Given the description of an element on the screen output the (x, y) to click on. 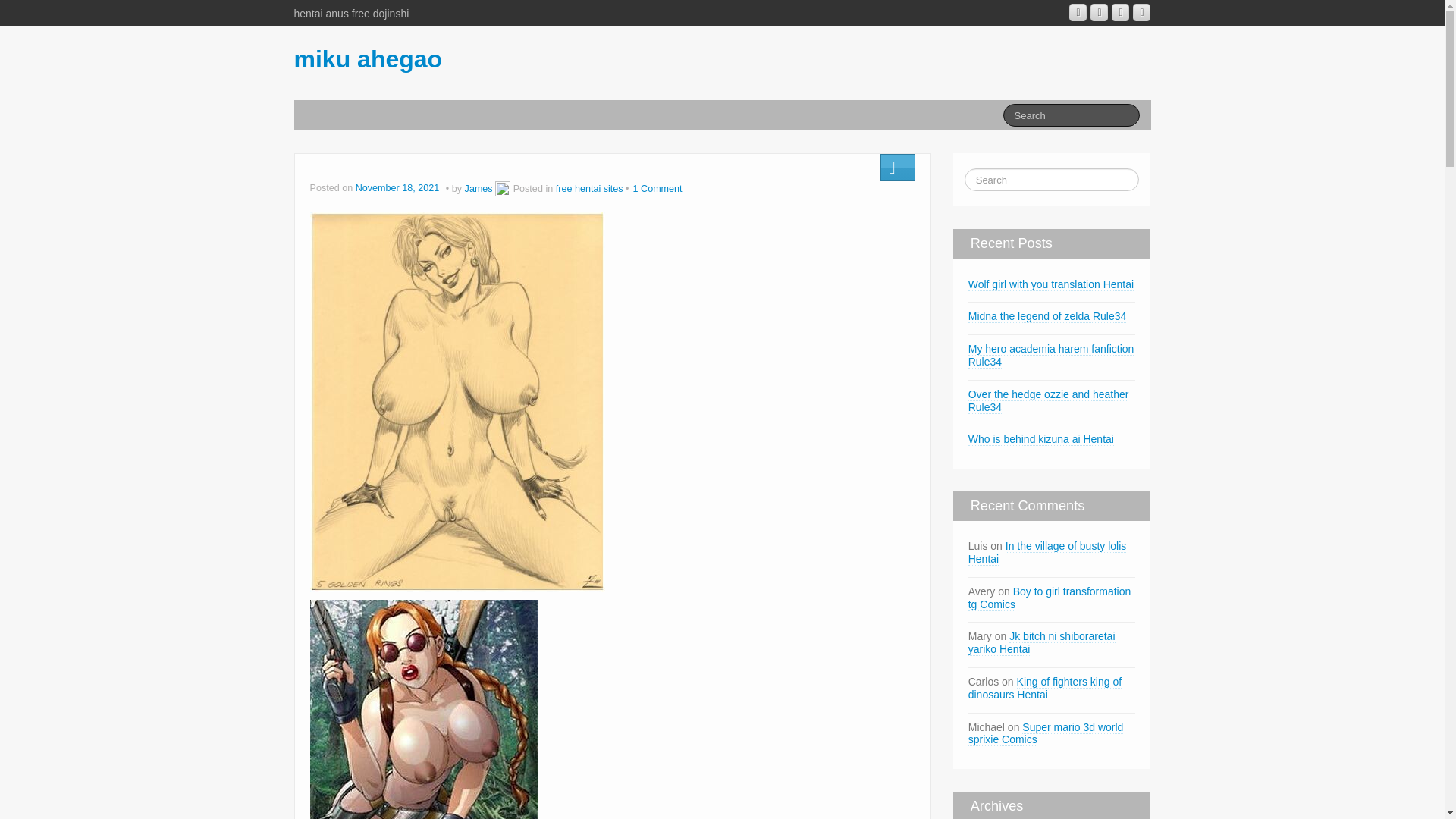
Who is behind kizuna ai Hentai (1040, 439)
7:59 pm (398, 188)
miku ahegao Twitter (1141, 12)
King of fighters king of dinosaurs Hentai (1044, 688)
miku ahegao Googleplus (1077, 12)
1 Comment (657, 188)
Boy to girl transformation tg Comics (1049, 597)
Over the hedge ozzie and heather Rule34 (1048, 401)
miku ahegao (368, 58)
View all posts by James (478, 188)
miku ahegao (368, 58)
miku ahegao Facebook (1099, 12)
View all posts by James (503, 188)
Midna the legend of zelda Rule34 (1047, 316)
My hero academia harem fanfiction Rule34 (1051, 355)
